Given the description of an element on the screen output the (x, y) to click on. 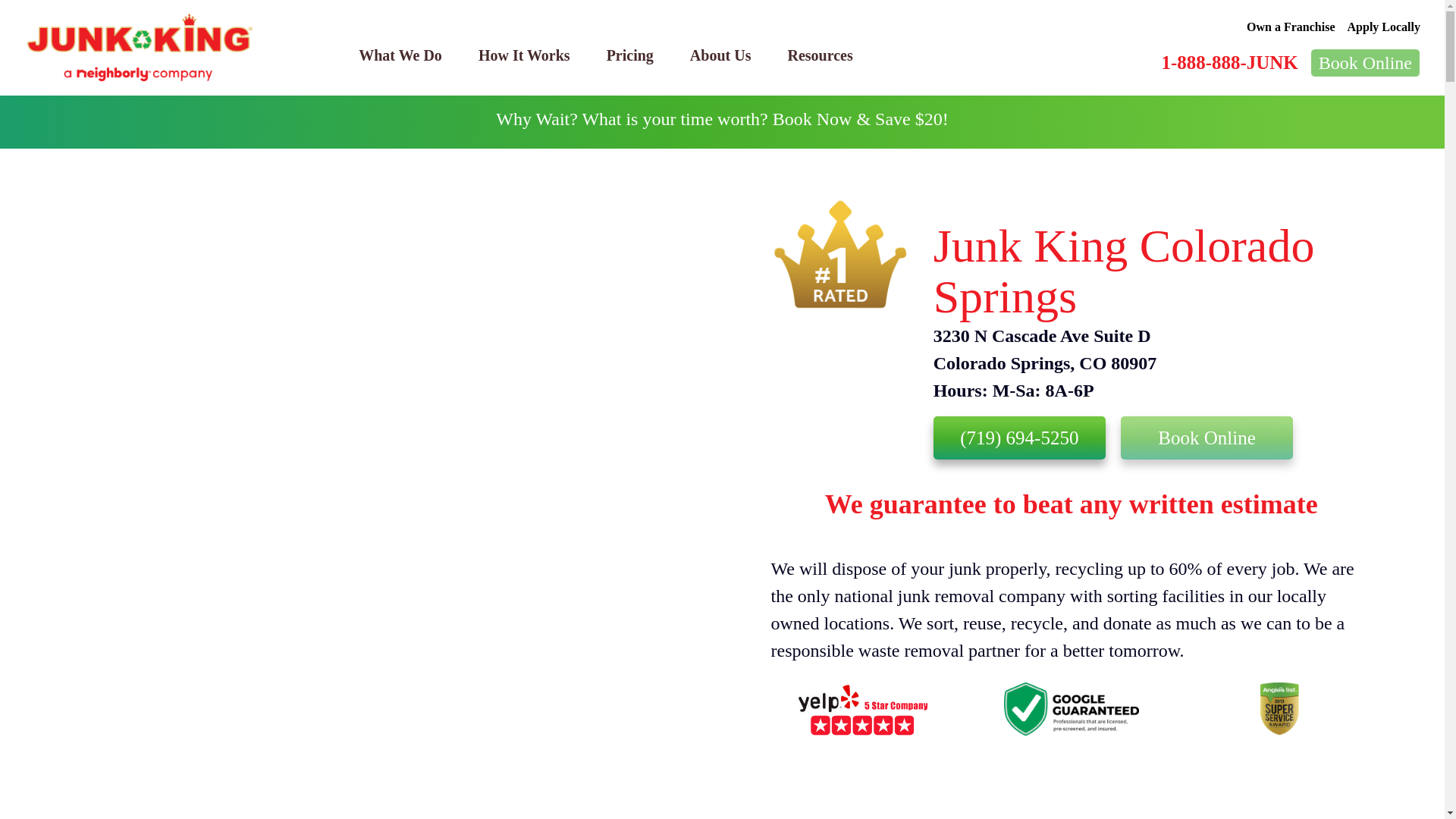
Own a Franchise (1290, 27)
Logo2 (1071, 708)
Pricing (629, 54)
What We Do (400, 54)
1-888-888-JUNK (1228, 62)
CrownImage (839, 254)
Junk King (139, 47)
About Us (720, 54)
Logo1 (862, 708)
